Given the description of an element on the screen output the (x, y) to click on. 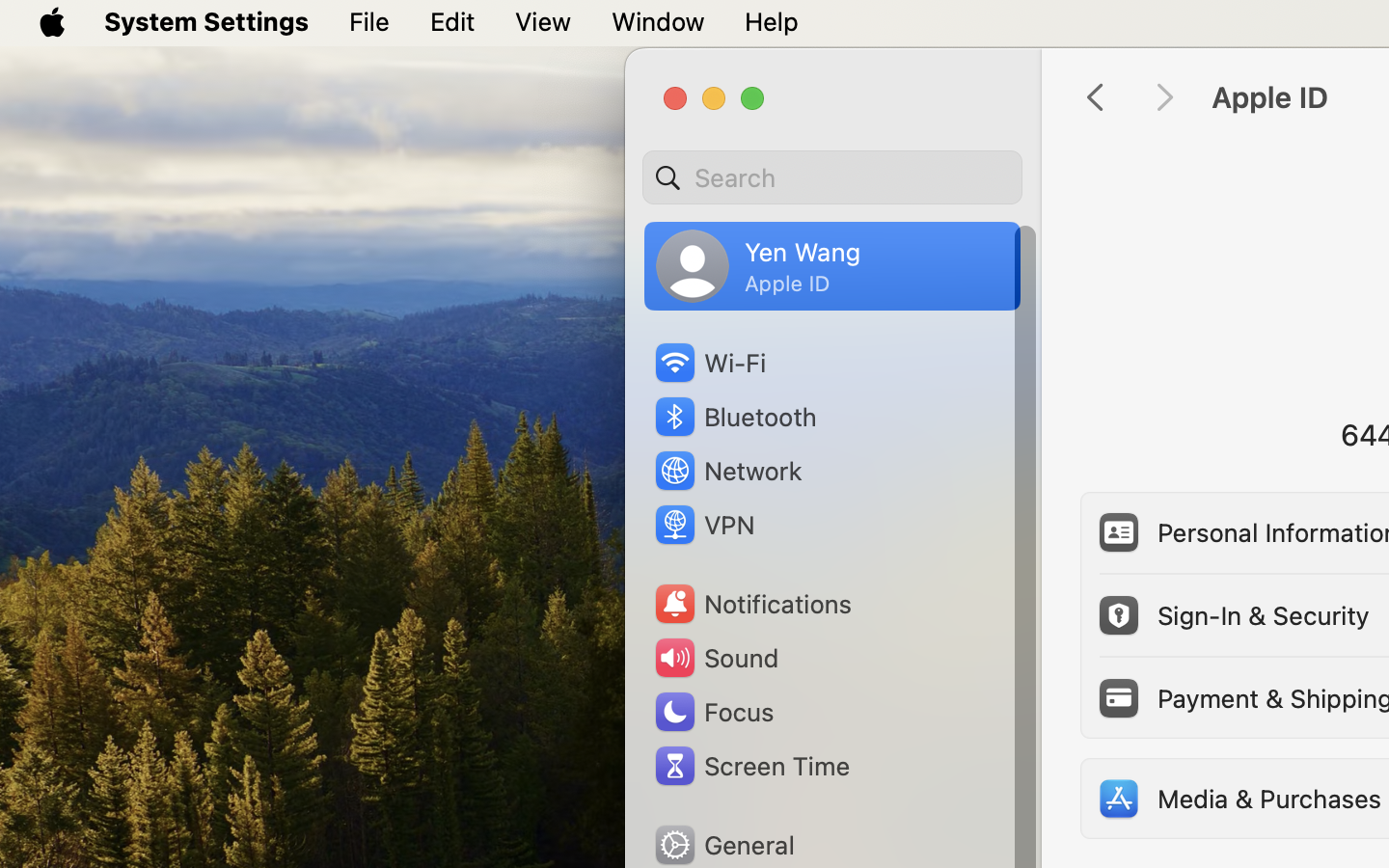
Screen Time Element type: AXStaticText (751, 765)
Bluetooth Element type: AXStaticText (734, 416)
Sound Element type: AXStaticText (715, 657)
Network Element type: AXStaticText (727, 470)
VPN Element type: AXStaticText (703, 524)
